Given the description of an element on the screen output the (x, y) to click on. 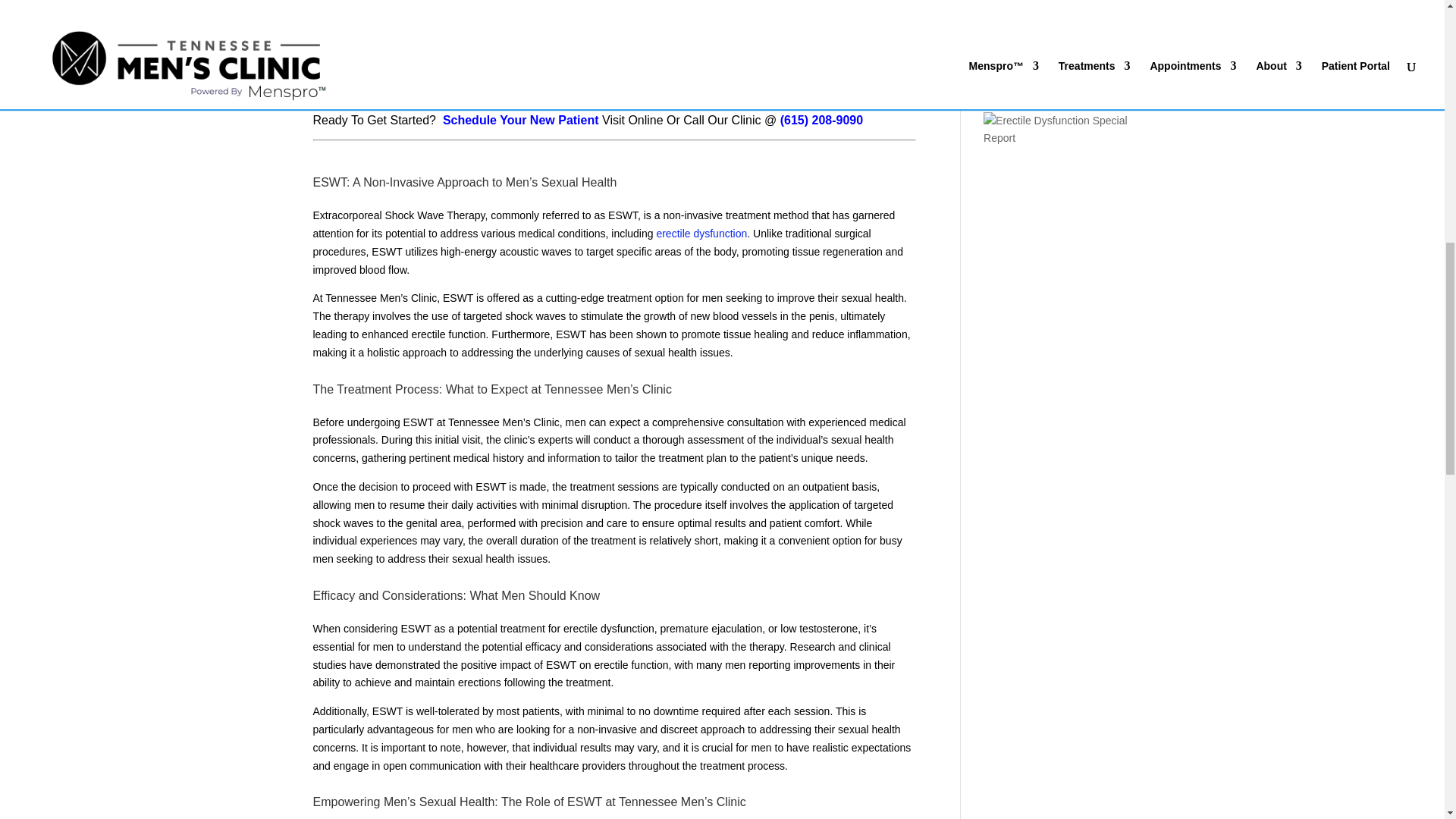
Menspro RISE (701, 233)
erectile dysfunction (701, 233)
Schedule Your New Patient (520, 119)
Menspro PULSE (808, 28)
ESWT (808, 28)
